Given the description of an element on the screen output the (x, y) to click on. 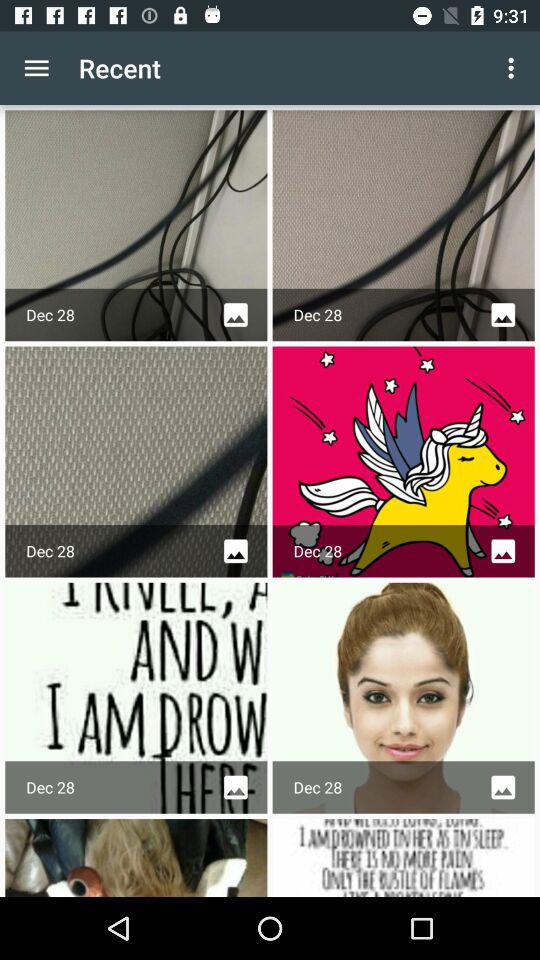
select the app to the right of recent (513, 67)
